Given the description of an element on the screen output the (x, y) to click on. 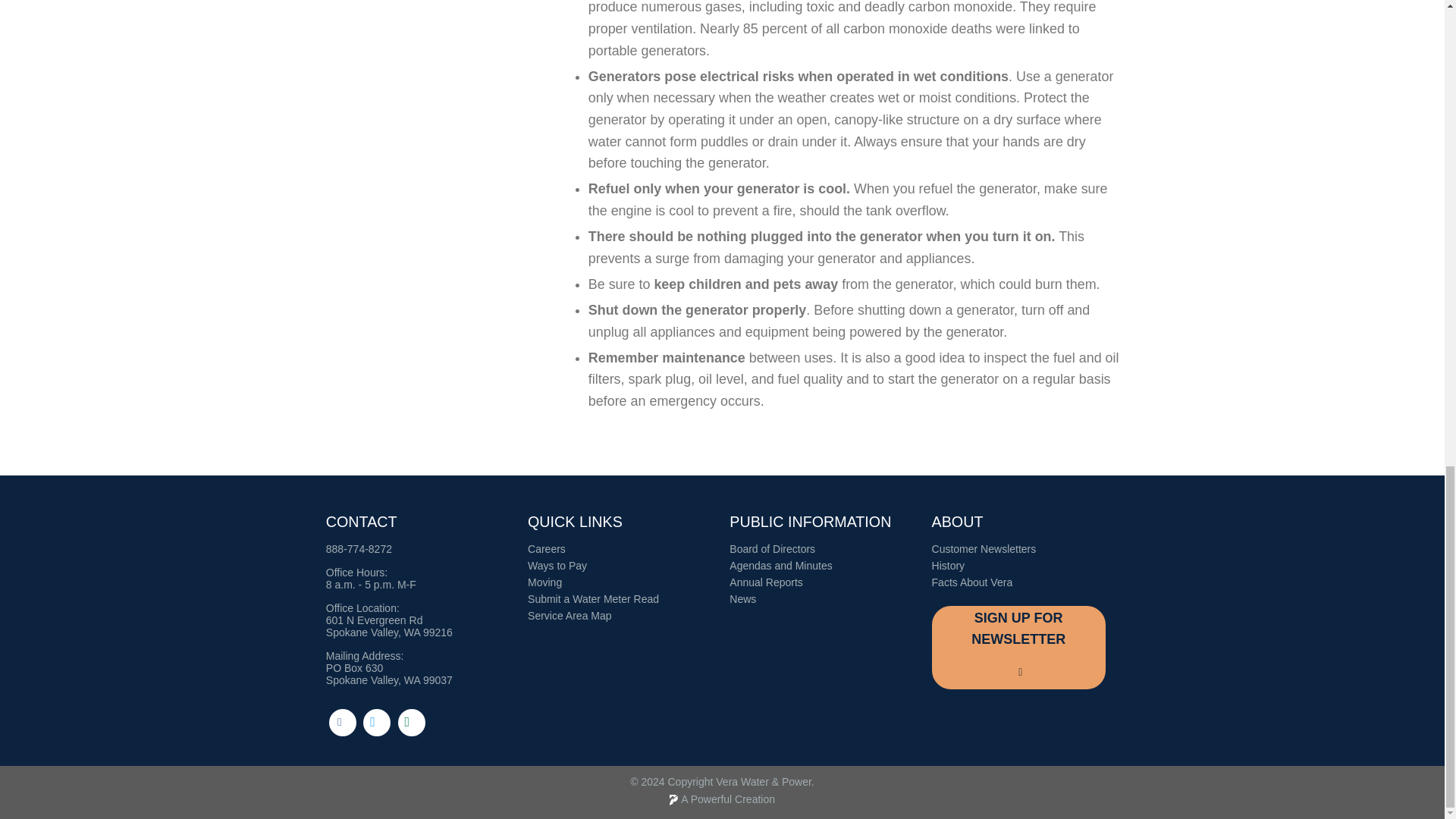
Follow on Twitter (376, 722)
Send us an email (411, 722)
Follow on Facebook (342, 722)
